Given the description of an element on the screen output the (x, y) to click on. 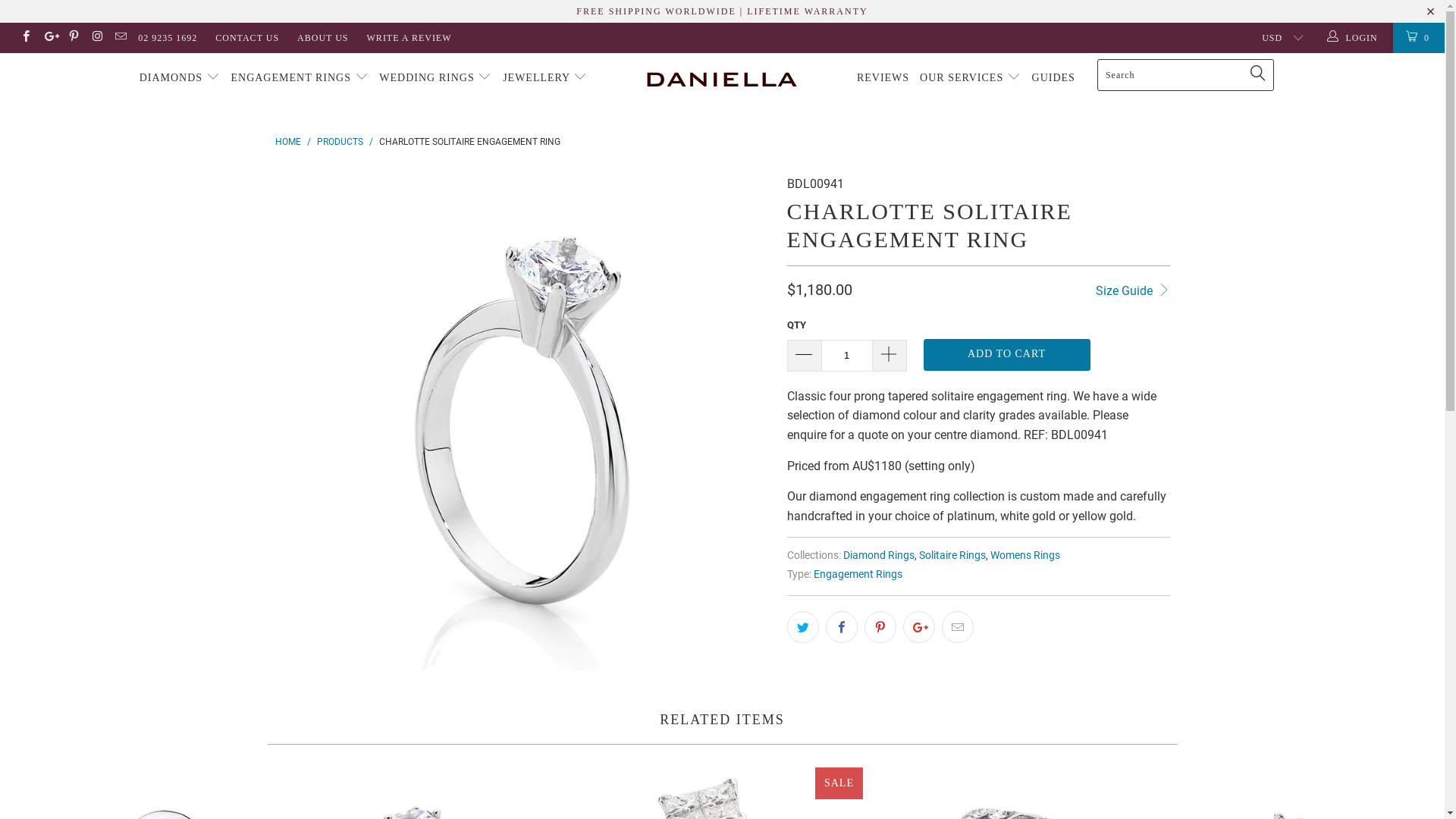
Solitaire Rings Element type: text (952, 555)
OUR SERVICES Element type: text (969, 78)
Daniella Jewellers Element type: hover (721, 78)
JEWELLERY Element type: text (544, 78)
Share this on Twitter Element type: hover (803, 627)
Share this on Google+ Element type: hover (918, 627)
DIAMONDS Element type: text (179, 78)
Email this to a friend Element type: hover (957, 627)
LOGIN Element type: text (1353, 37)
Womens Rings Element type: text (1025, 555)
ENGAGEMENT RINGS Element type: text (299, 78)
CONTACT US Element type: text (247, 37)
WEDDING RINGS Element type: text (435, 78)
Daniella Jewellers on Google+ Element type: hover (48, 37)
ADD TO CART Element type: text (1006, 354)
REVIEWS Element type: text (882, 78)
HOME Element type: text (287, 141)
Engagement Rings Element type: text (856, 573)
PRODUCTS Element type: text (339, 141)
WRITE A REVIEW Element type: text (409, 37)
Share this on Facebook Element type: hover (840, 627)
Share this on Pinterest Element type: hover (880, 627)
Daniella Jewellers on Pinterest Element type: hover (72, 37)
ABOUT US Element type: text (322, 37)
GUIDES Element type: text (1053, 78)
Size Guide Element type: text (1132, 289)
Email Daniella Jewellers Element type: hover (119, 37)
Daniella Jewellers on Instagram Element type: hover (96, 37)
Daniella Jewellers on Facebook Element type: hover (24, 37)
0 Element type: text (1418, 37)
02 9235 1692 Element type: text (167, 37)
Diamond Rings Element type: text (878, 555)
